Given the description of an element on the screen output the (x, y) to click on. 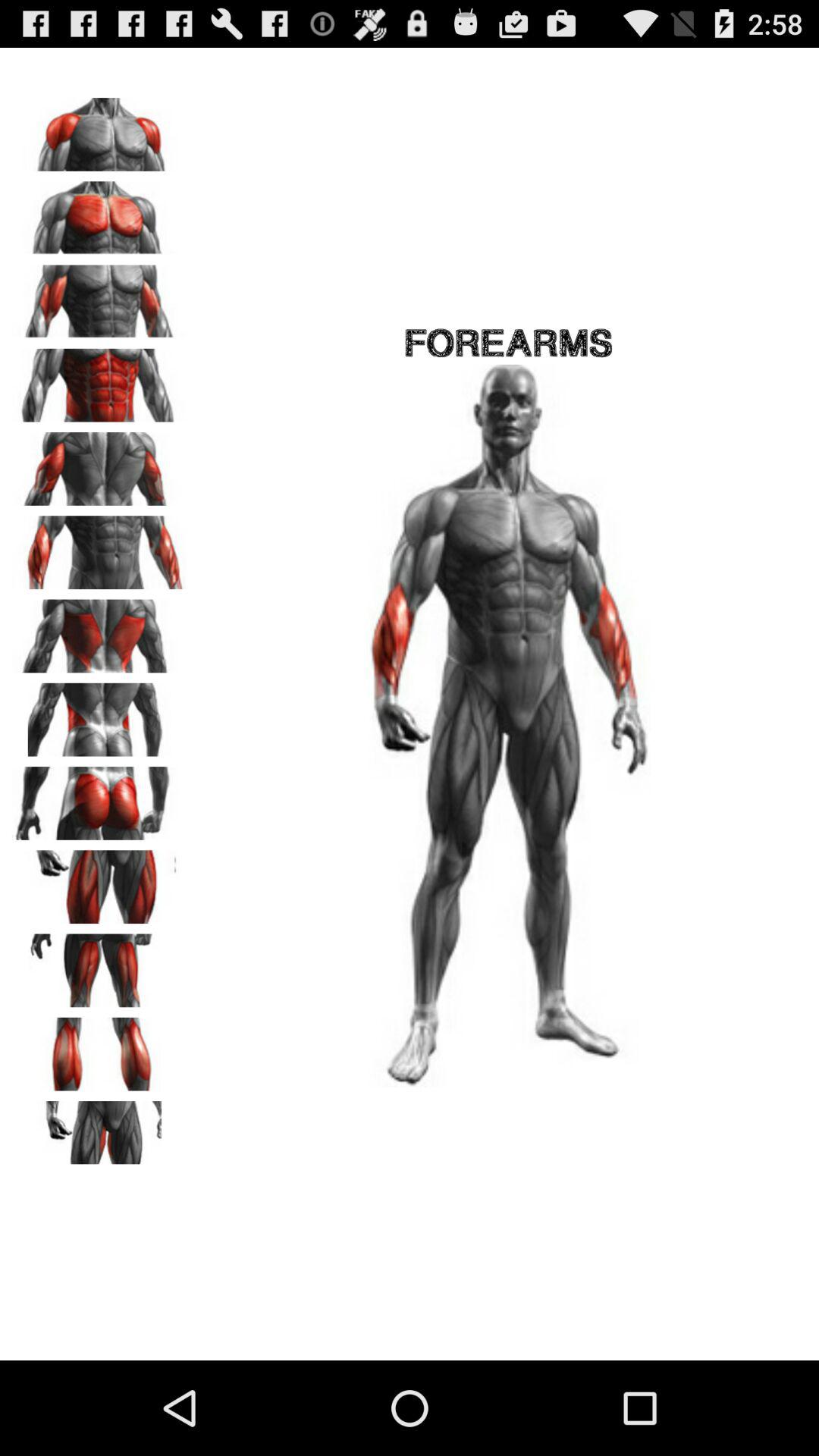
choose biceps (99, 296)
